Given the description of an element on the screen output the (x, y) to click on. 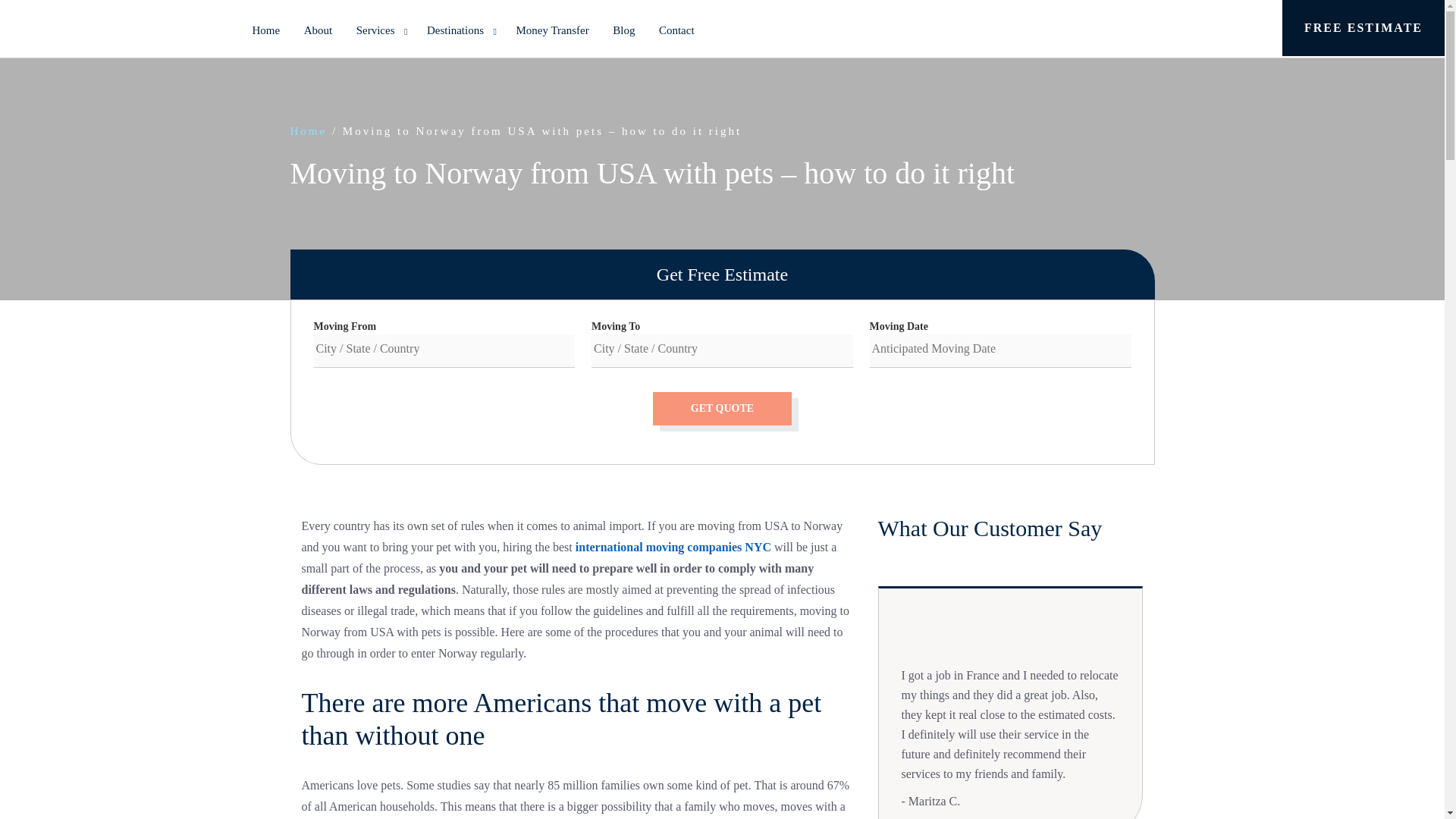
GET QUOTE (722, 408)
Destinations (459, 30)
Money Transfer (551, 30)
Home (265, 30)
Services (379, 30)
Home (307, 131)
Contact (675, 30)
About (318, 30)
international moving companies NYC (673, 546)
